Given the description of an element on the screen output the (x, y) to click on. 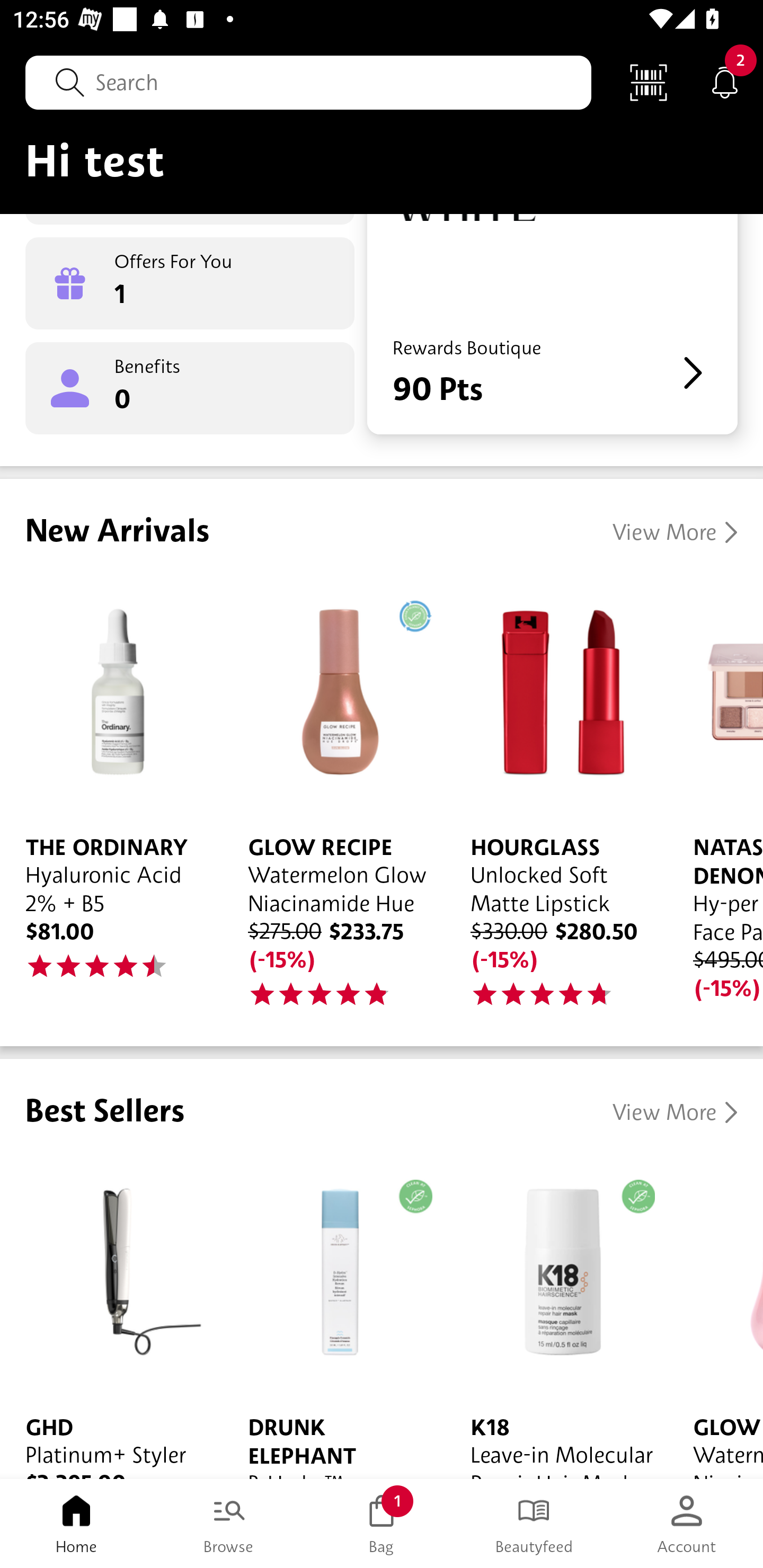
Scan Code (648, 81)
Notifications (724, 81)
Search (308, 81)
Rewards Boutique 90 Pts (552, 323)
Offers For You 1 (189, 282)
Benefits 0 (189, 387)
View More (674, 532)
THE ORDINARY Hyaluronic Acid 2% + B5 $81.00 45.0 (111, 791)
View More (674, 1112)
GHD Platinum+ Styler $2,295.00 (111, 1316)
DRUNK ELEPHANT B-Hydra™ Intensive Hydration Serum (333, 1316)
K18 Leave-in Molecular Repair Hair Mask (555, 1316)
Browse (228, 1523)
Bag 1 Bag (381, 1523)
Beautyfeed (533, 1523)
Account (686, 1523)
